Given the description of an element on the screen output the (x, y) to click on. 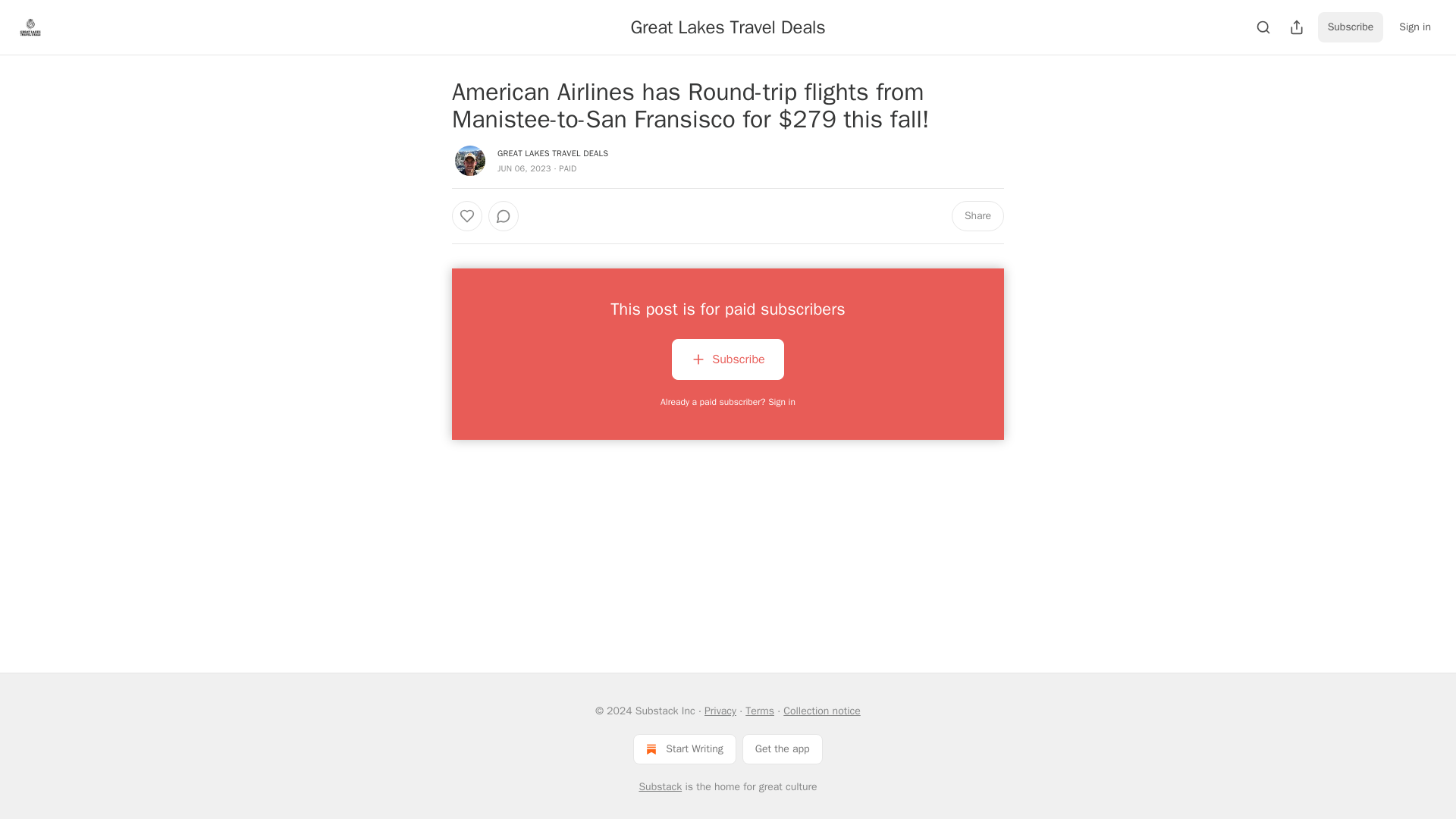
Subscribe (727, 361)
Terms (759, 710)
Already a paid subscriber? Sign in (727, 401)
Subscribe (1350, 27)
Privacy (720, 710)
Start Writing (684, 748)
Share (978, 215)
Collection notice (821, 710)
Sign in (1415, 27)
Substack (660, 786)
